Given the description of an element on the screen output the (x, y) to click on. 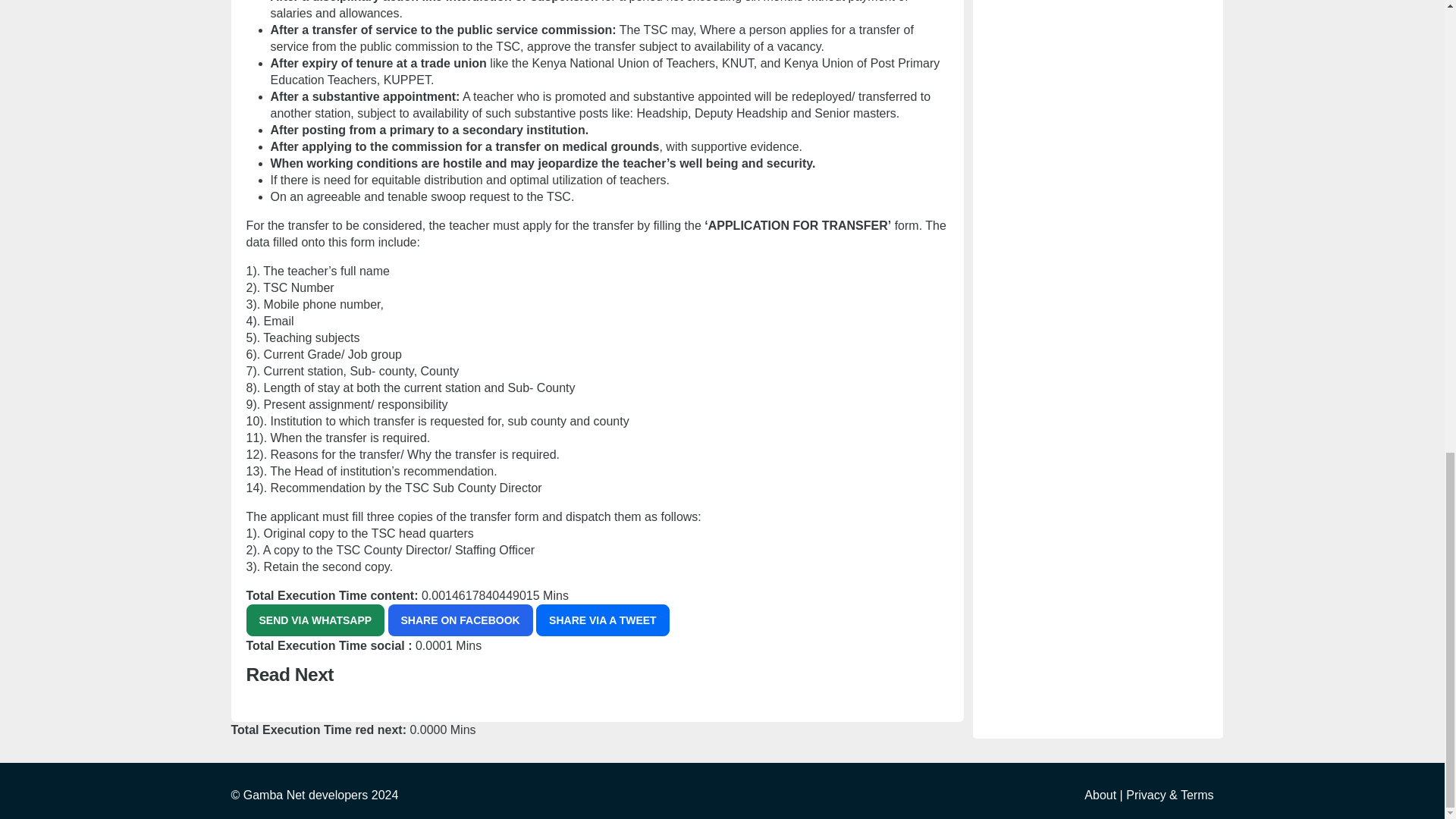
SHARE ON FACEBOOK (460, 620)
SEND VIA WHATSAPP (315, 620)
About (1100, 794)
SHARE VIA A TWEET (602, 620)
Gamba Net developers (307, 794)
